Given the description of an element on the screen output the (x, y) to click on. 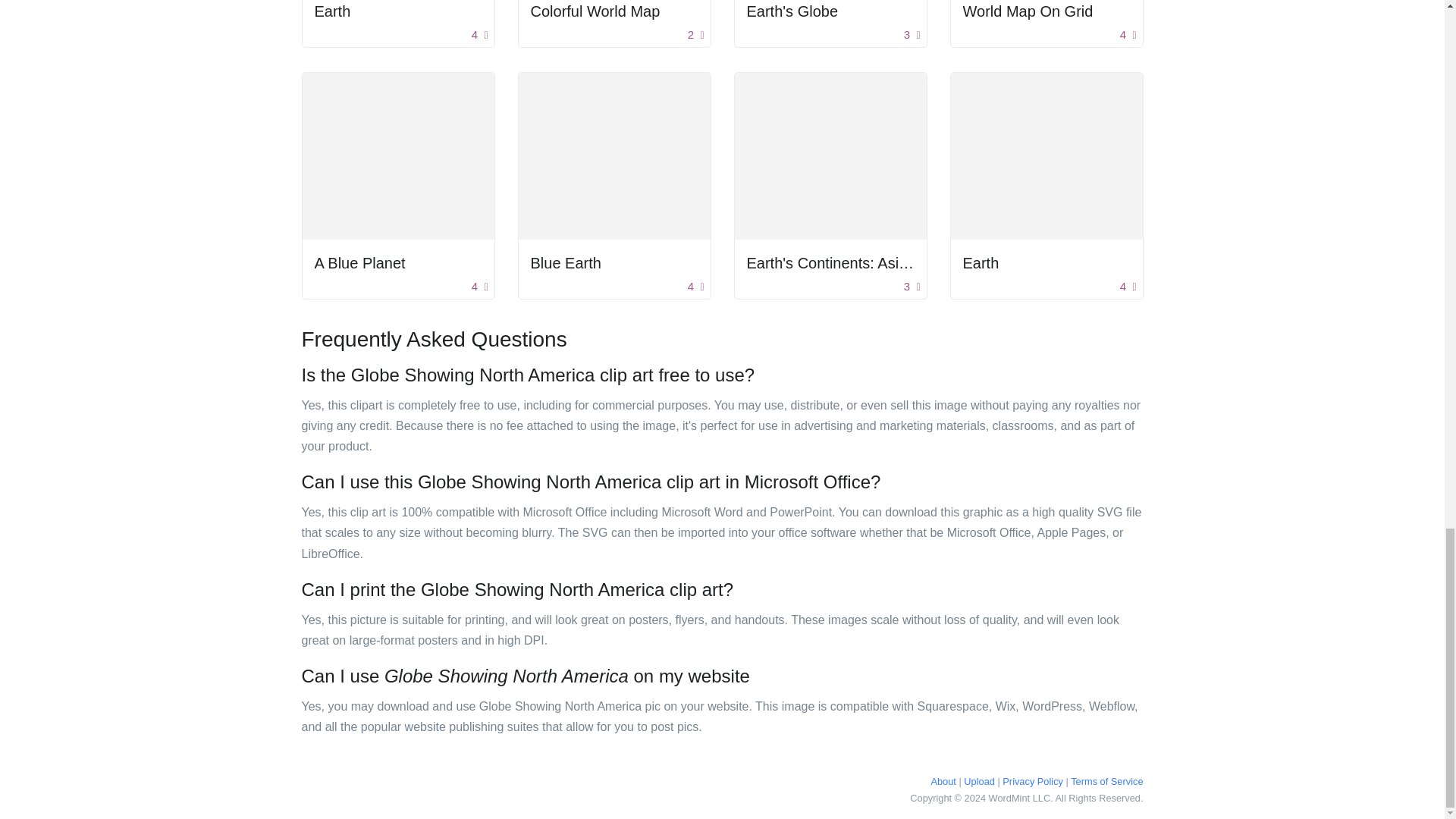
Upload (978, 781)
World Map On Grid (1027, 11)
Earth (980, 262)
Blue Earth (566, 262)
Earth's Globe (791, 11)
Earth's Continents: Asia and Australia (871, 262)
Earth (332, 11)
Colorful World Map (596, 11)
Privacy Policy (1032, 781)
About (942, 781)
